Given the description of an element on the screen output the (x, y) to click on. 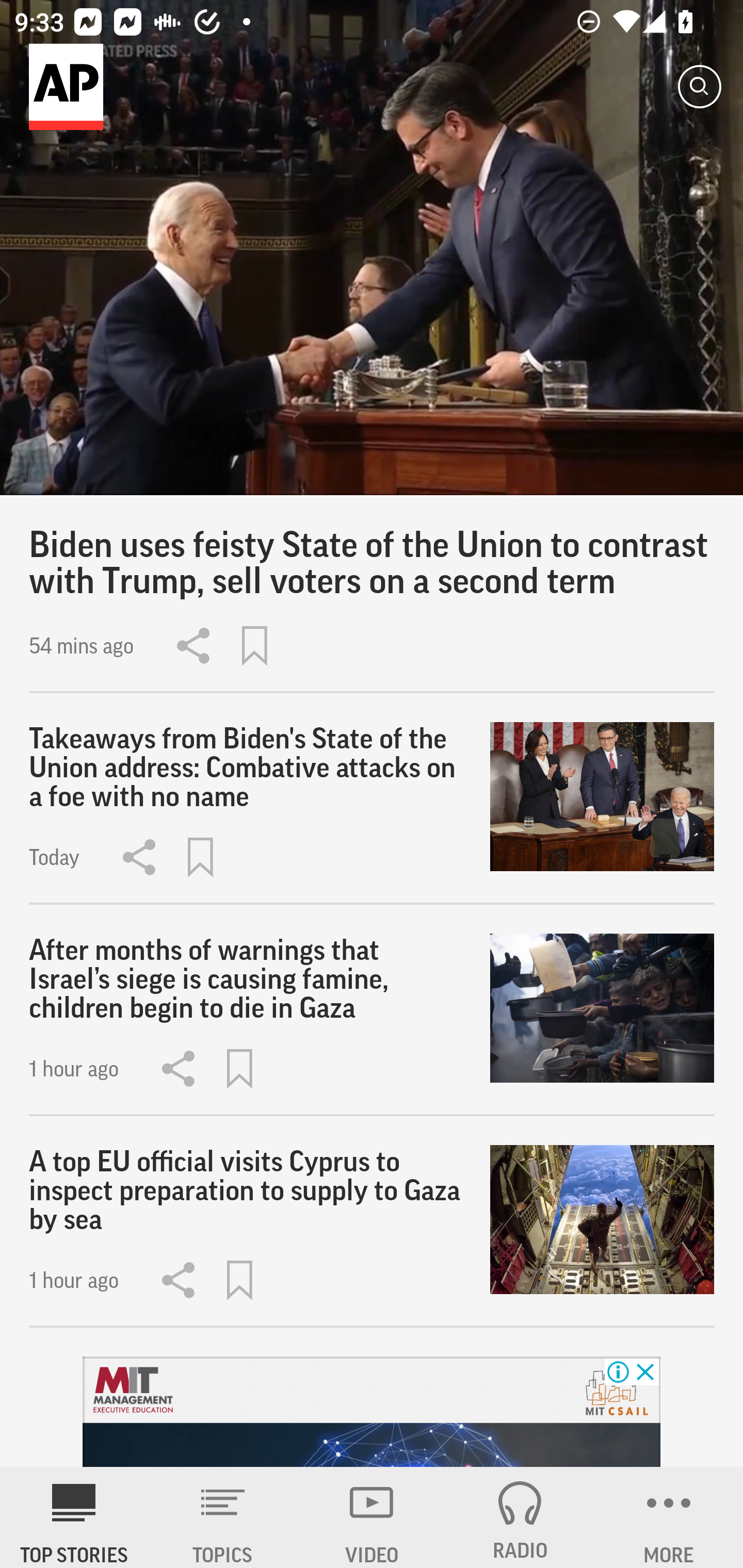
AP News TOP STORIES (74, 1517)
TOPICS (222, 1517)
VIDEO (371, 1517)
RADIO (519, 1517)
MORE (668, 1517)
